Given the description of an element on the screen output the (x, y) to click on. 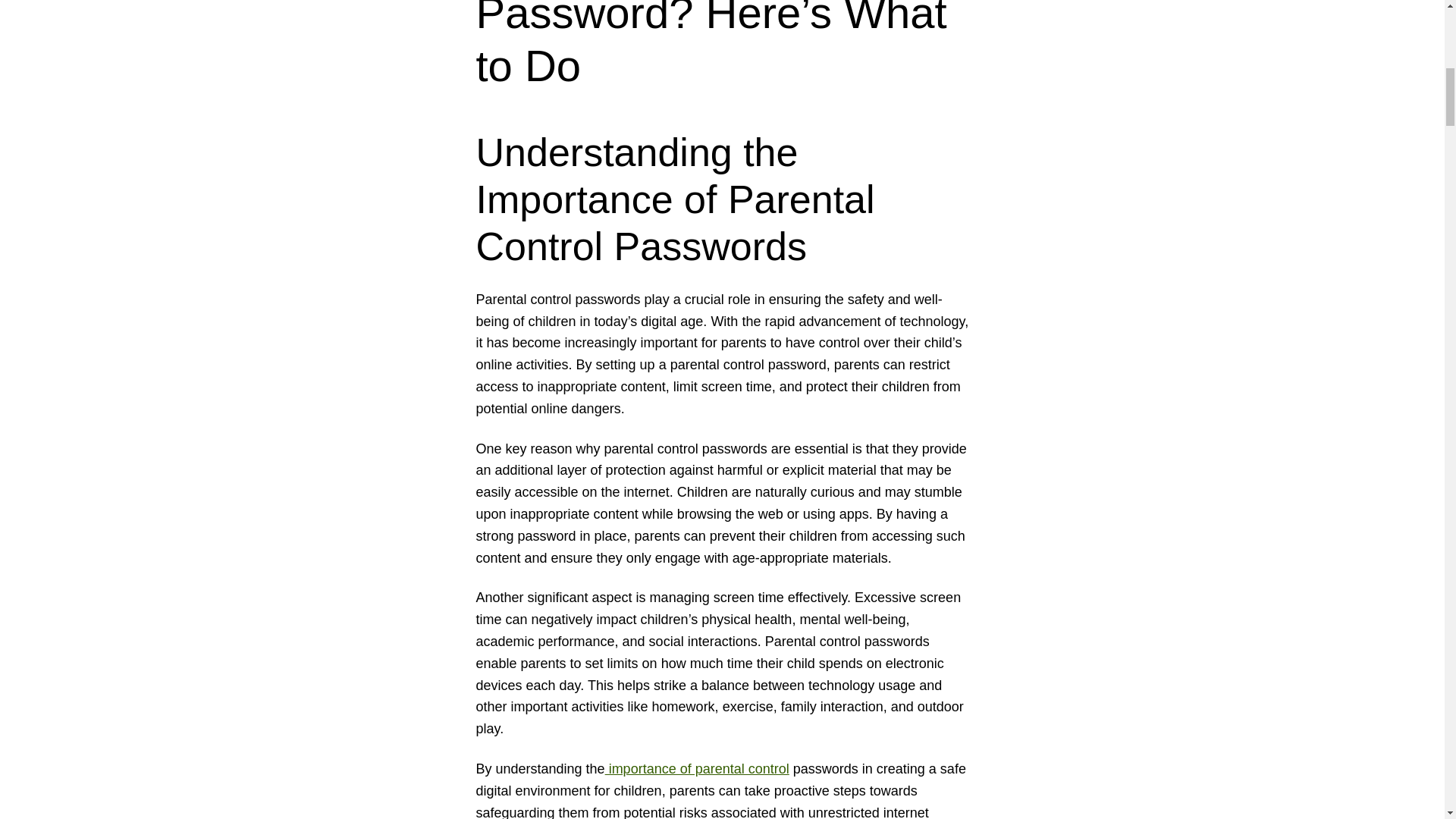
 importance of parental control (697, 768)
importance of parental control (697, 768)
